Given the description of an element on the screen output the (x, y) to click on. 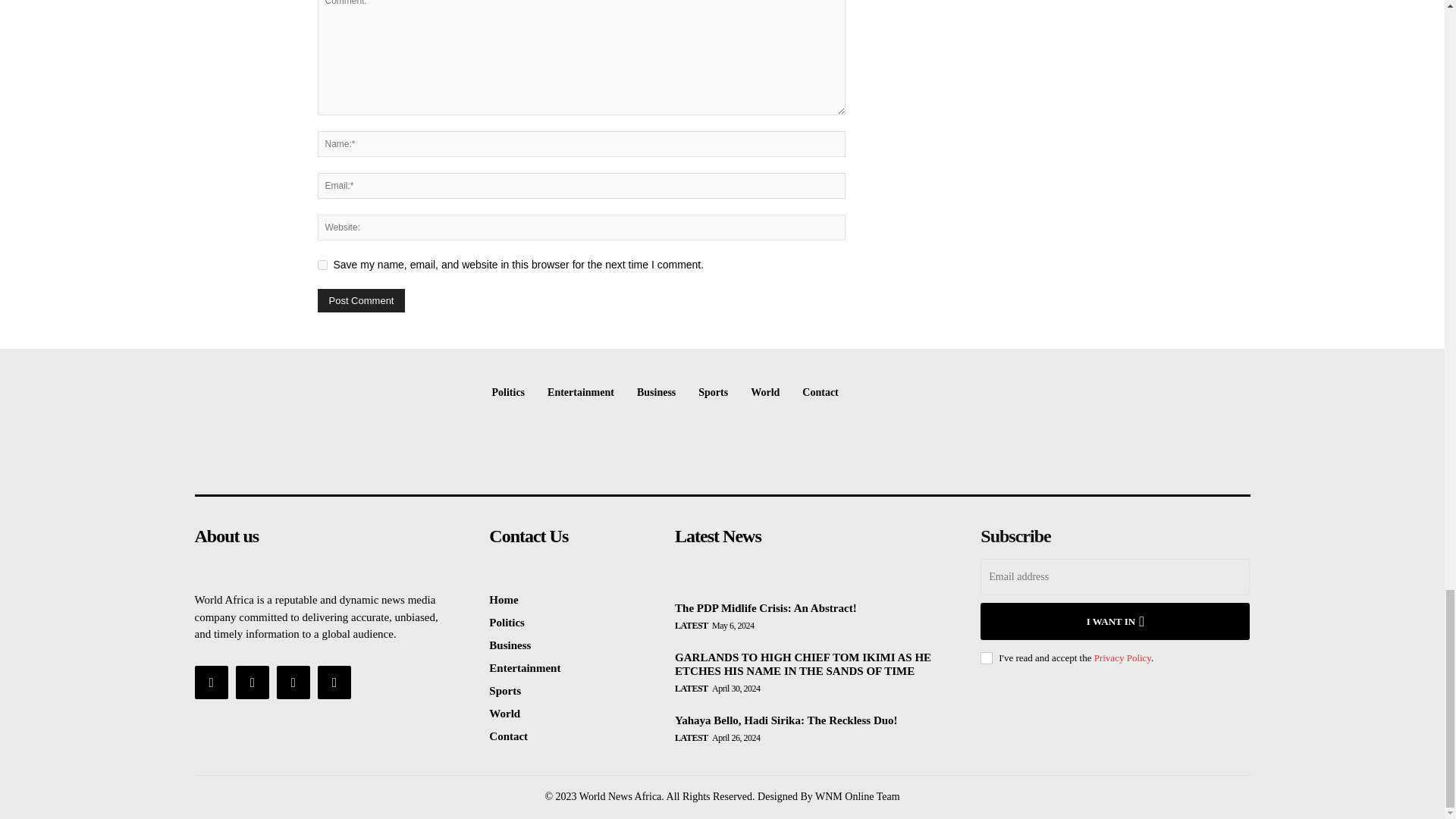
Post Comment (360, 300)
yes (321, 265)
